Given the description of an element on the screen output the (x, y) to click on. 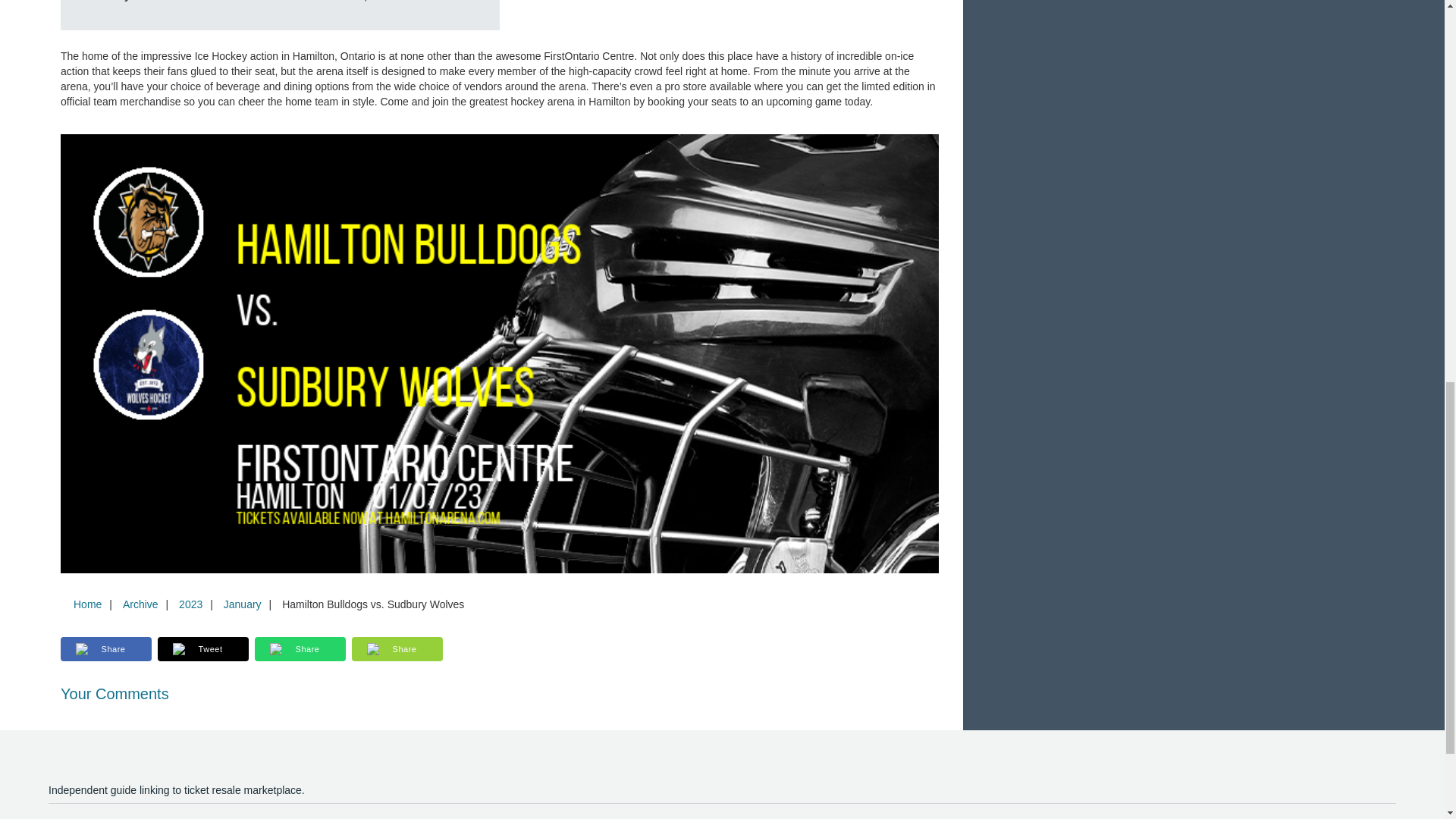
January (242, 604)
Archive (140, 604)
Home (87, 604)
2023 (190, 604)
